Given the description of an element on the screen output the (x, y) to click on. 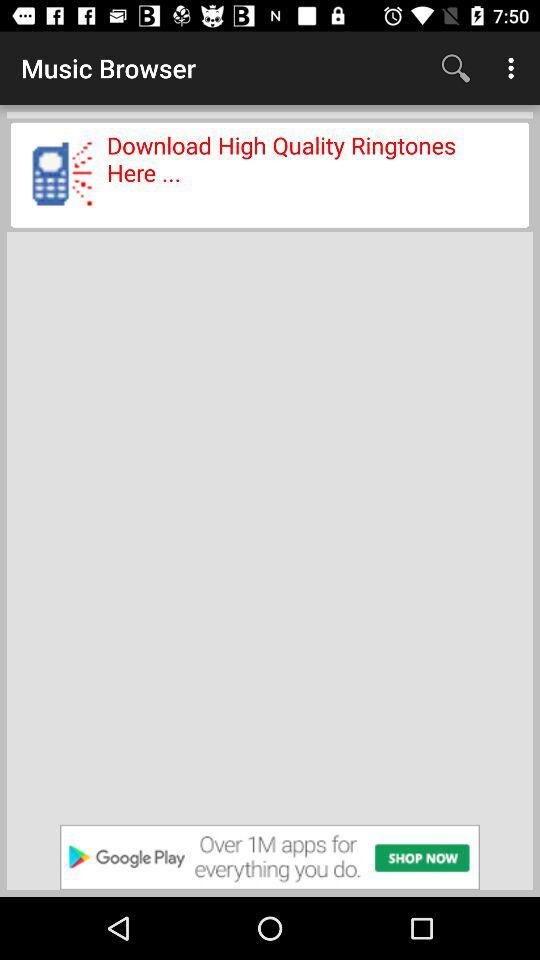
advertising (270, 857)
